Given the description of an element on the screen output the (x, y) to click on. 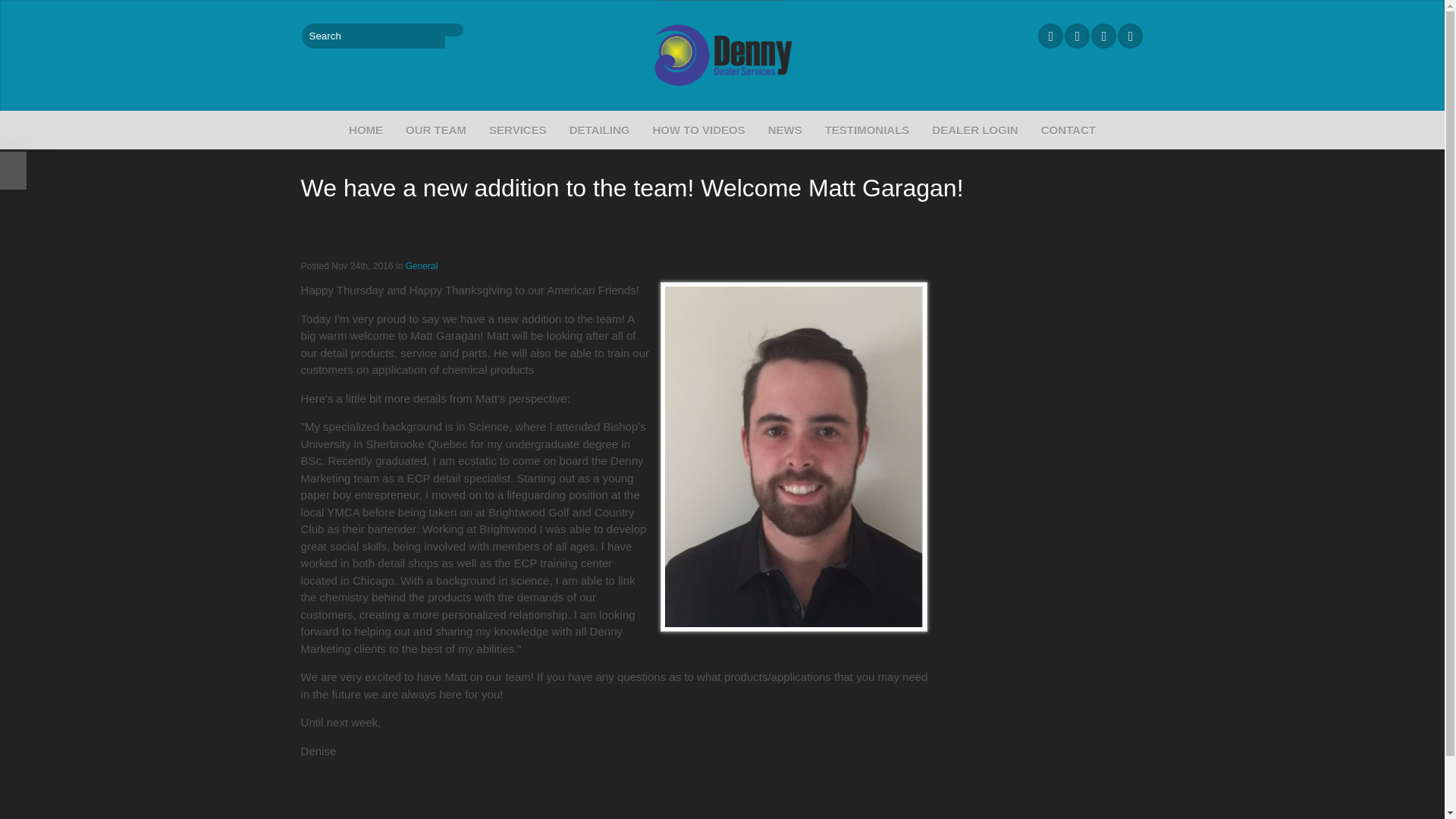
HOME (365, 130)
Search (454, 29)
CONTACT (1068, 130)
DEALER LOGIN (974, 130)
HOW TO VIDEOS (698, 130)
General (422, 266)
OUR TEAM (435, 130)
Denny's Atlantic Detailing Products (599, 130)
Product Videos (698, 130)
Dealer Services Login (974, 130)
